Given the description of an element on the screen output the (x, y) to click on. 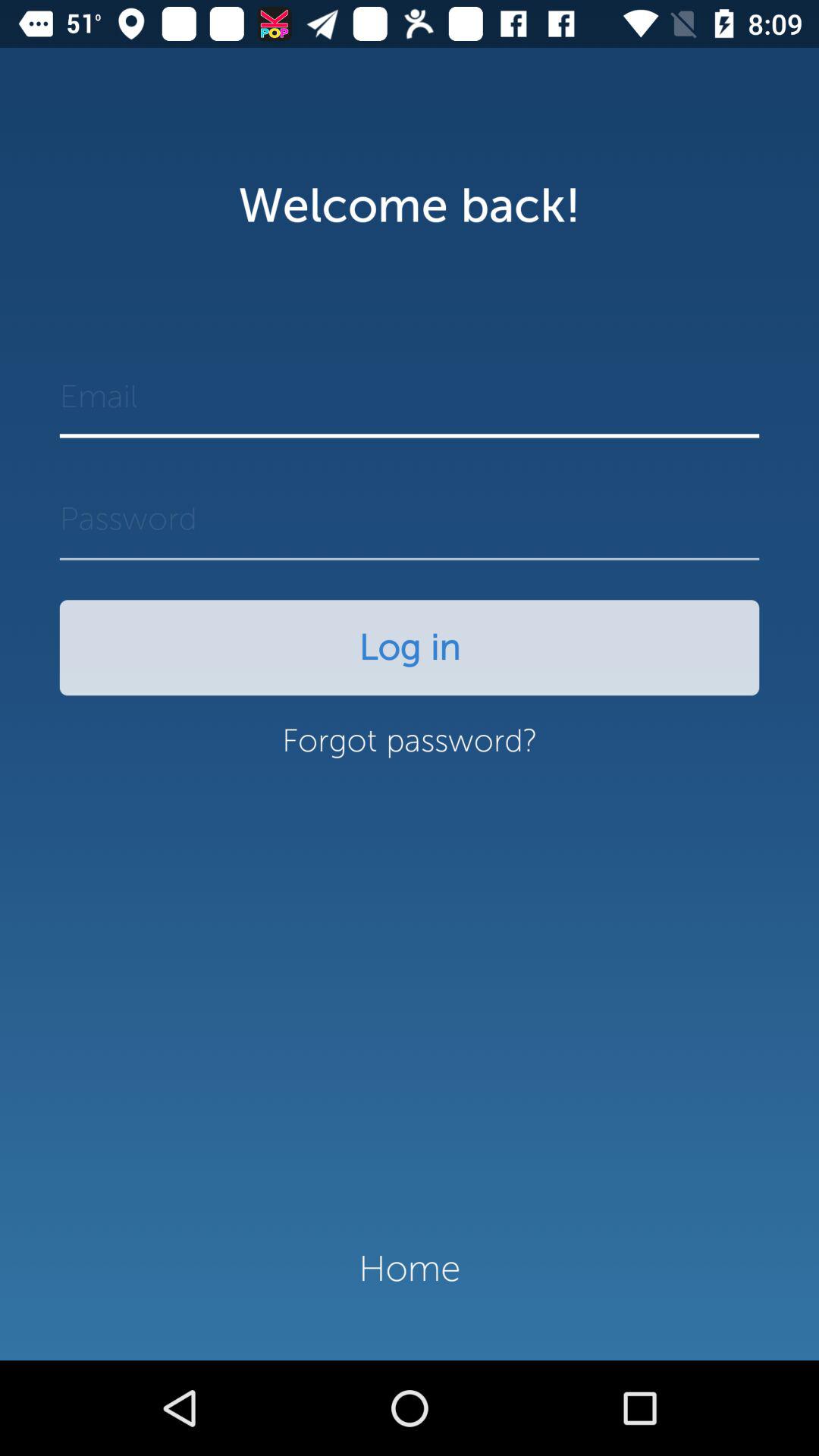
swipe to home item (409, 1268)
